Given the description of an element on the screen output the (x, y) to click on. 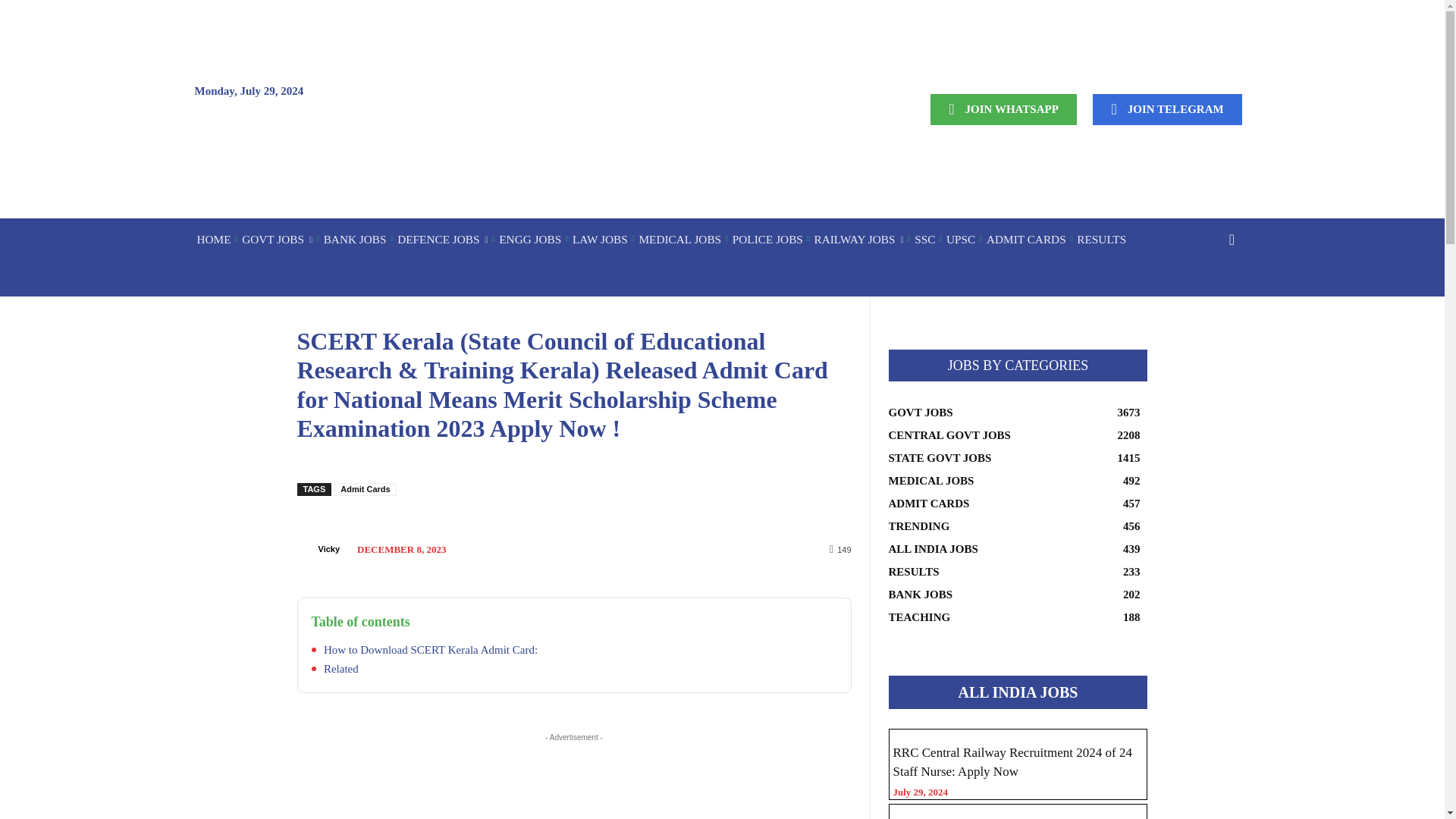
HOME (212, 239)
JOIN WHATSAPP  (1003, 109)
JOIN TELEGRAM (1167, 109)
JOIN TELEGRAM (1167, 109)
JOIN WHATSAPP (1003, 109)
Vicky (307, 548)
